Given the description of an element on the screen output the (x, y) to click on. 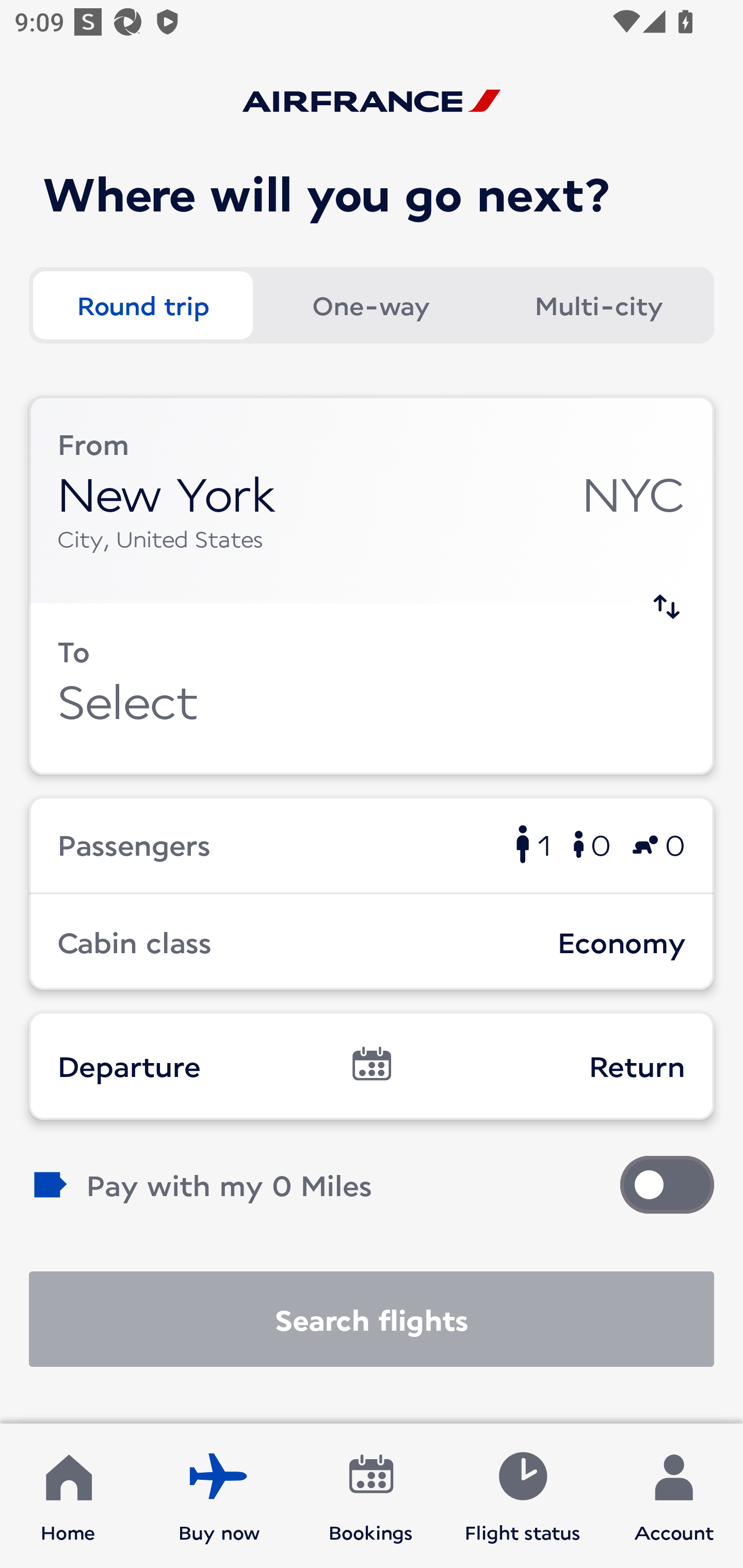
Round trip (142, 304)
One-way (370, 304)
Multi-city (598, 304)
From New York NYC City, United States (371, 499)
To Select (371, 688)
Passengers 1 0 0 (371, 844)
Cabin class Economy (371, 941)
Departure Return (371, 1065)
Search flights (371, 1319)
Home (68, 1495)
Bookings (370, 1495)
Flight status (522, 1495)
Account (674, 1495)
